Given the description of an element on the screen output the (x, y) to click on. 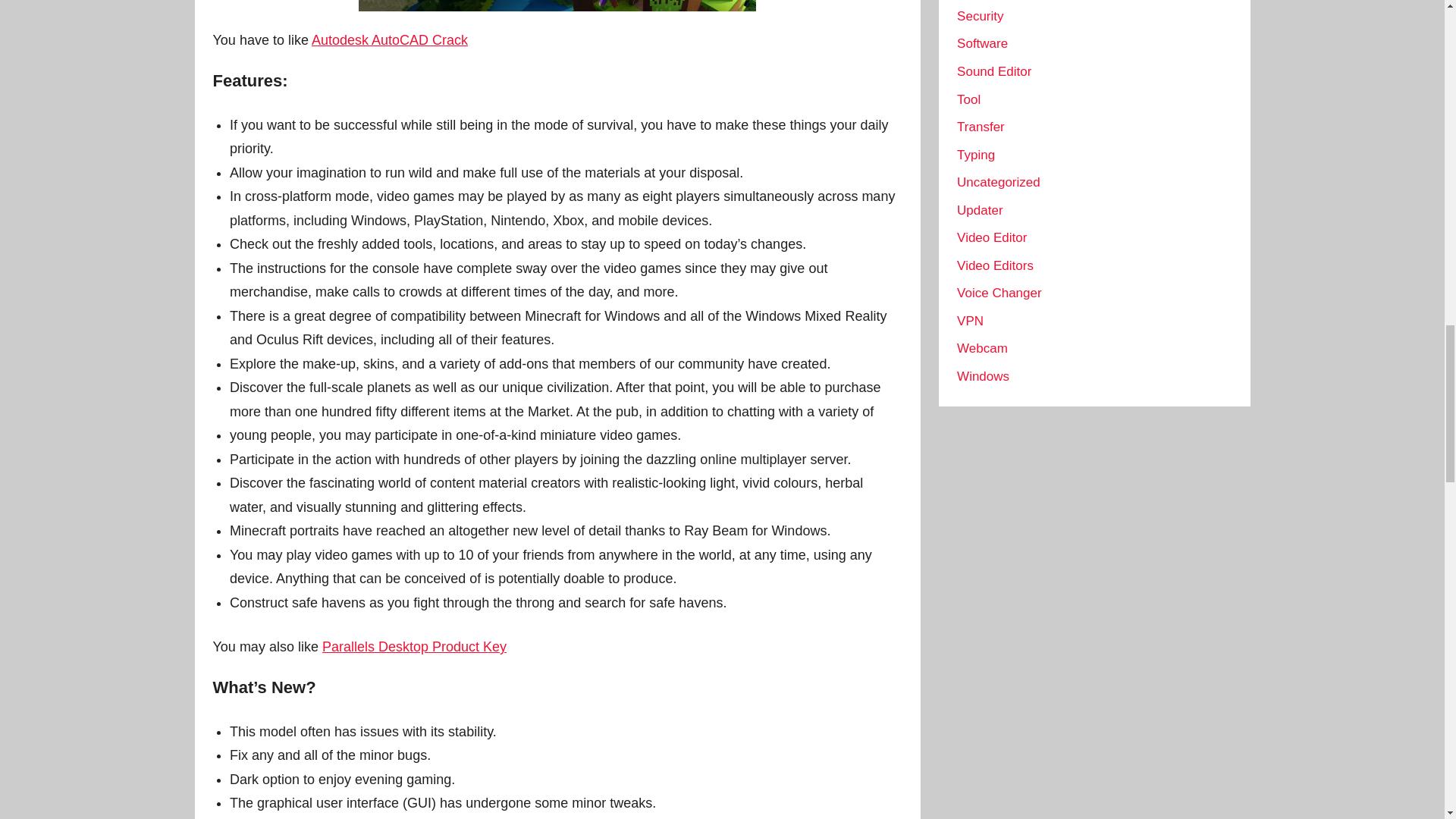
Autodesk AutoCAD Crack (389, 39)
Parallels Desktop Product Key (413, 646)
